Given the description of an element on the screen output the (x, y) to click on. 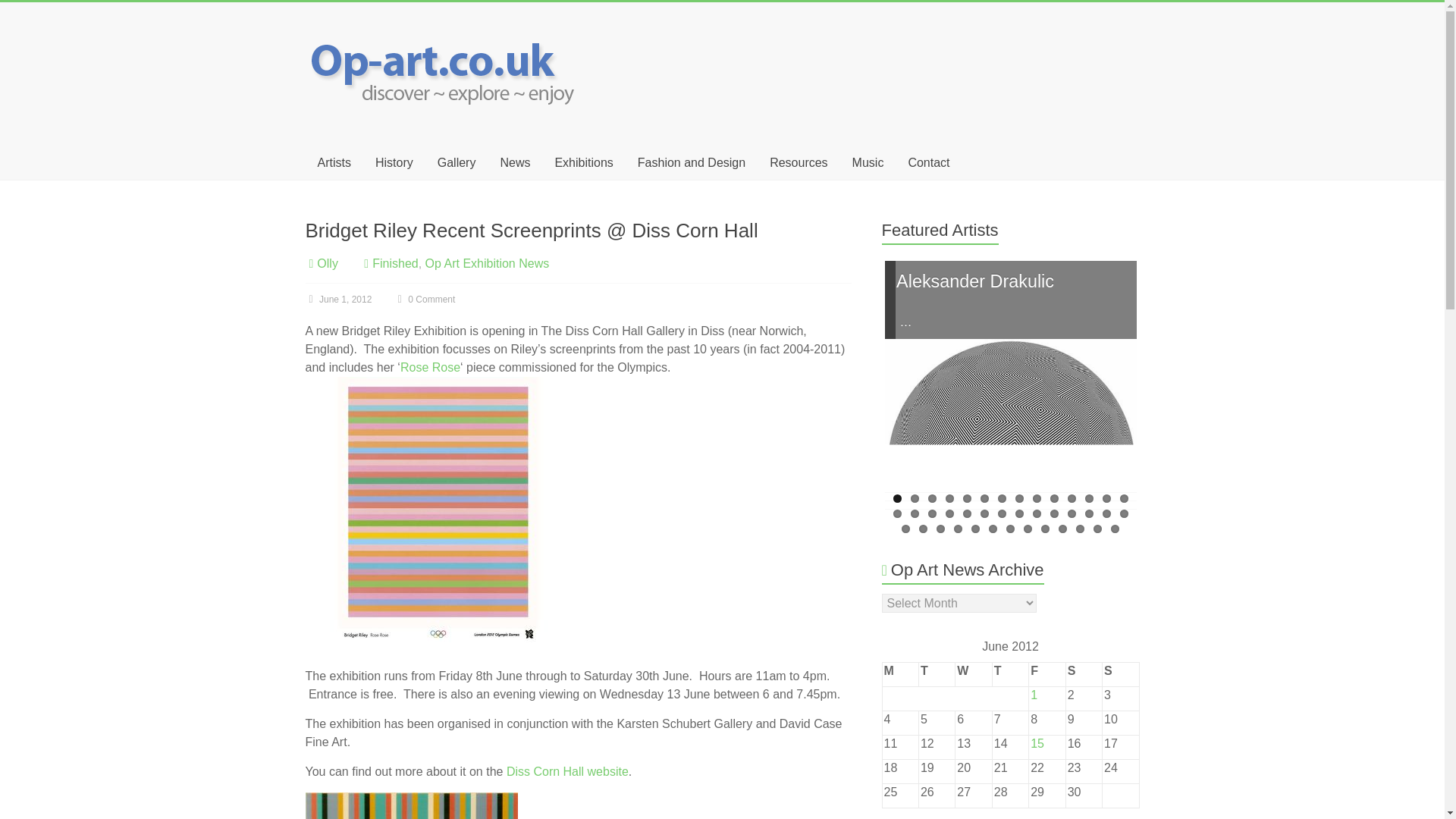
Music (868, 162)
Op-Art.co.uk (445, 31)
Finished (394, 263)
Op Art Exhibitions (582, 162)
Op Art in Fashion and Design (691, 162)
Bridget Riley Rose (430, 367)
Aleksander Drakulic (1011, 464)
Diss Corn Exchange Riley Exhibition (567, 771)
Exhibitions (582, 162)
Contact (927, 162)
